Given the description of an element on the screen output the (x, y) to click on. 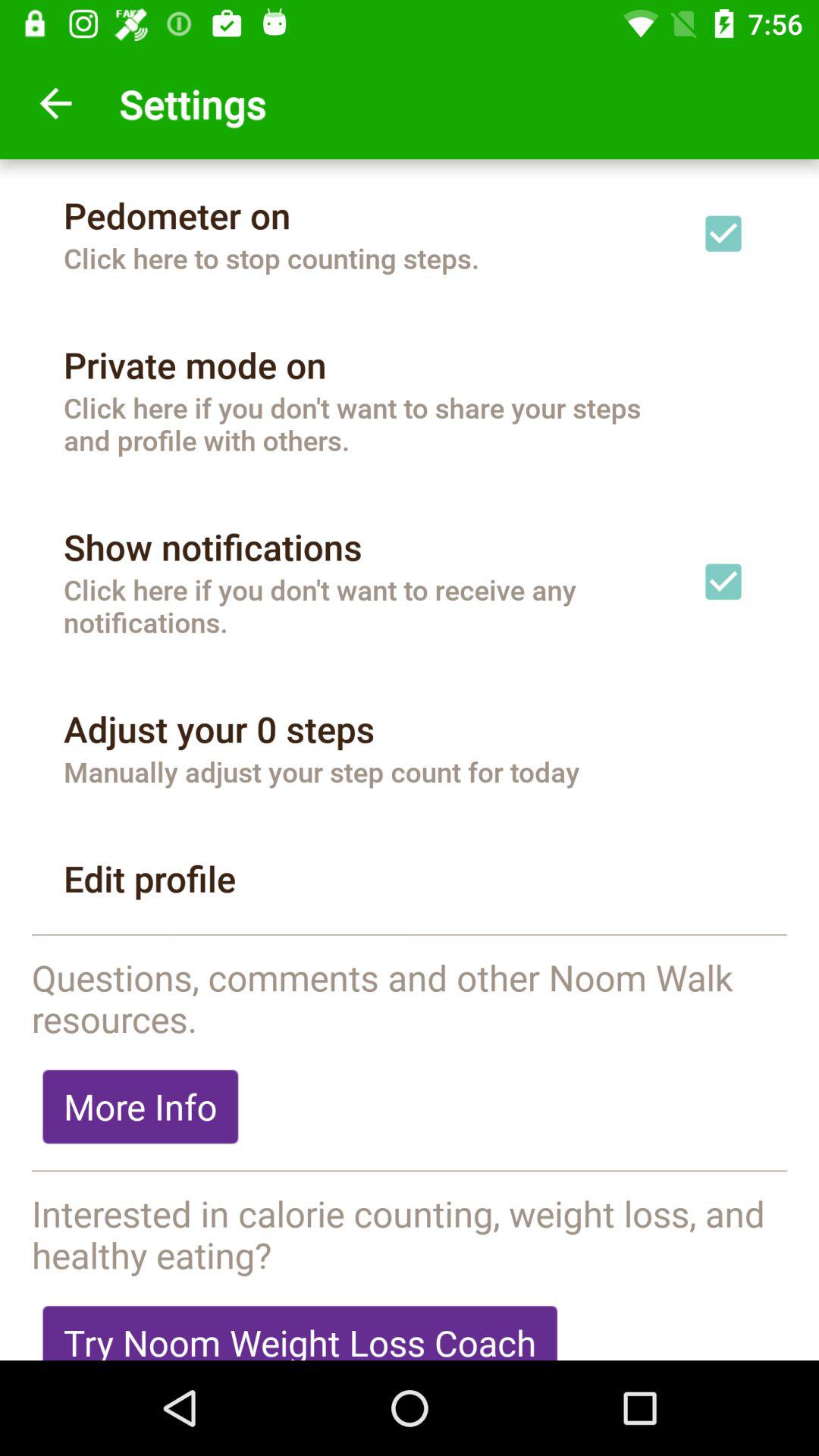
turn off the icon above the questions comments and (409, 935)
